Given the description of an element on the screen output the (x, y) to click on. 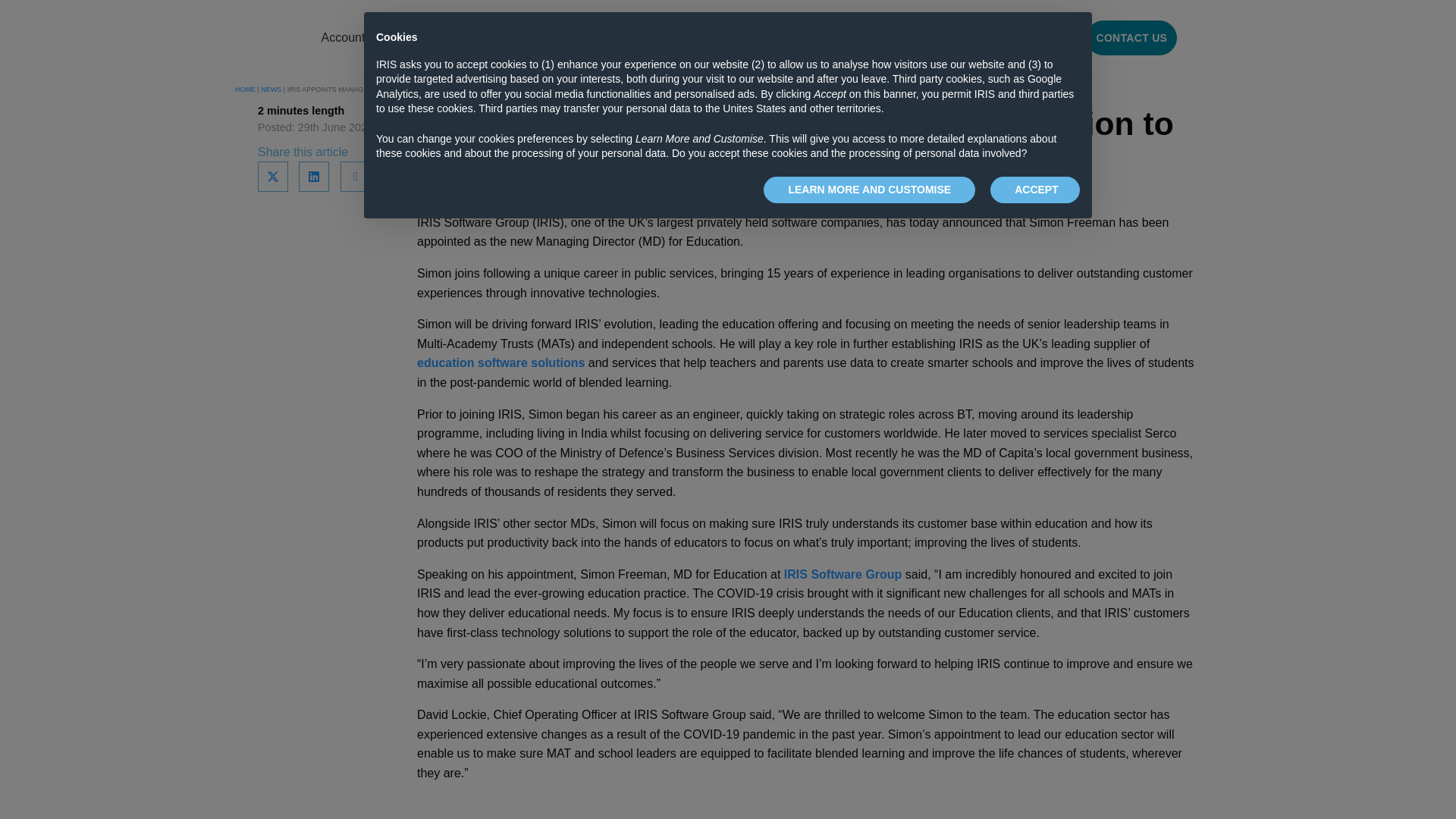
Accountancy (356, 37)
